Given the description of an element on the screen output the (x, y) to click on. 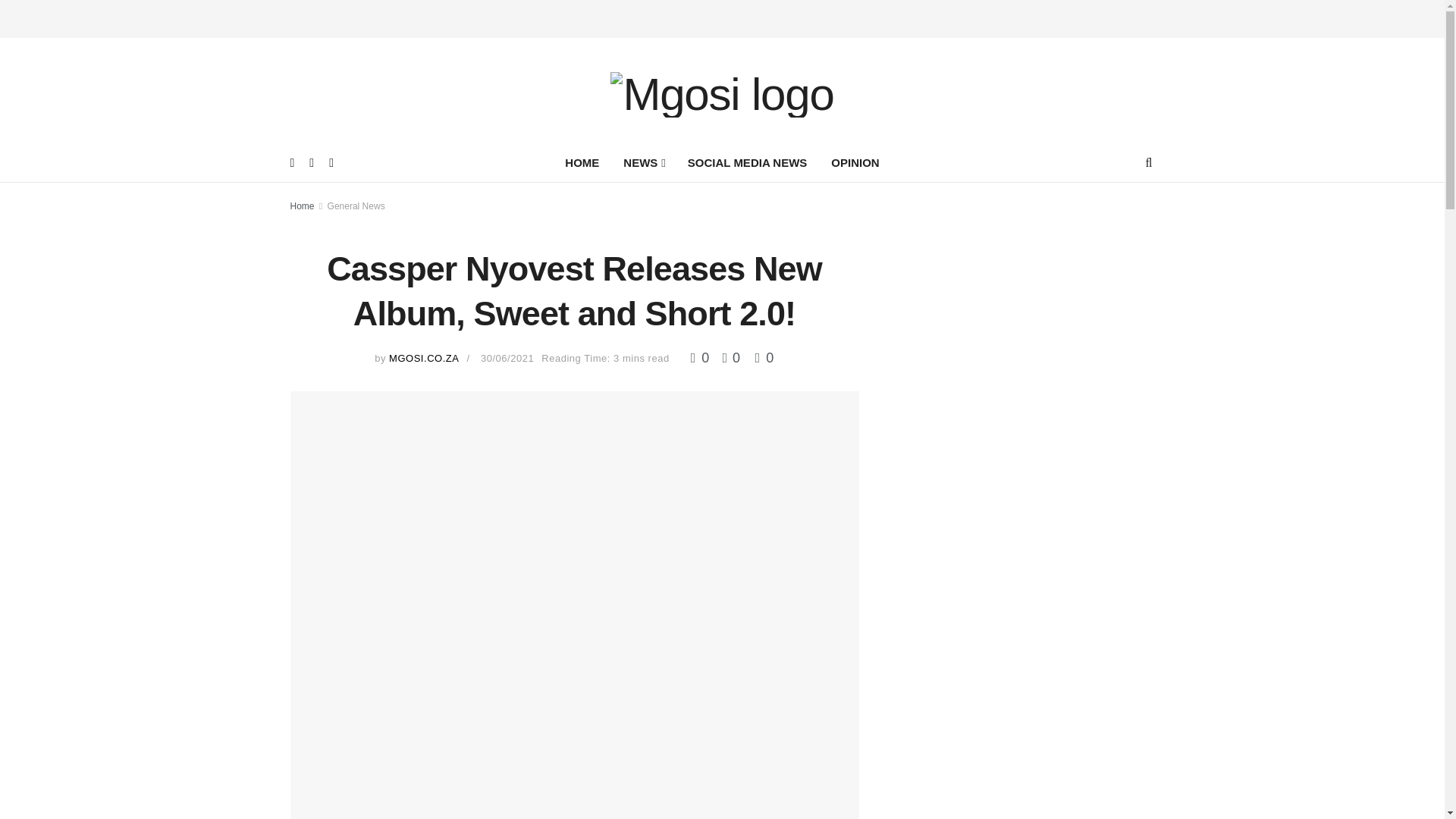
SOCIAL MEDIA NEWS (747, 162)
HOME (582, 162)
NEWS (643, 162)
OPINION (854, 162)
